Given the description of an element on the screen output the (x, y) to click on. 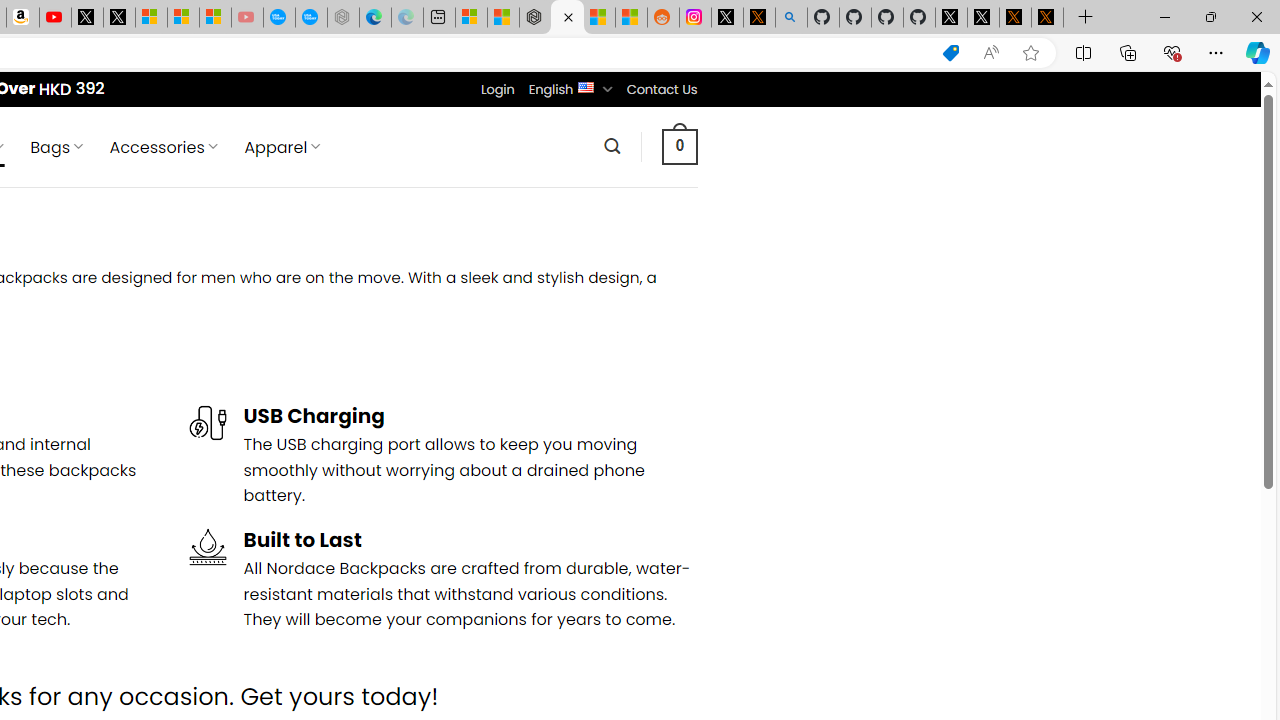
Contact Us (661, 89)
  0   (679, 146)
Contact Us (661, 89)
 0  (679, 146)
English (586, 86)
